Given the description of an element on the screen output the (x, y) to click on. 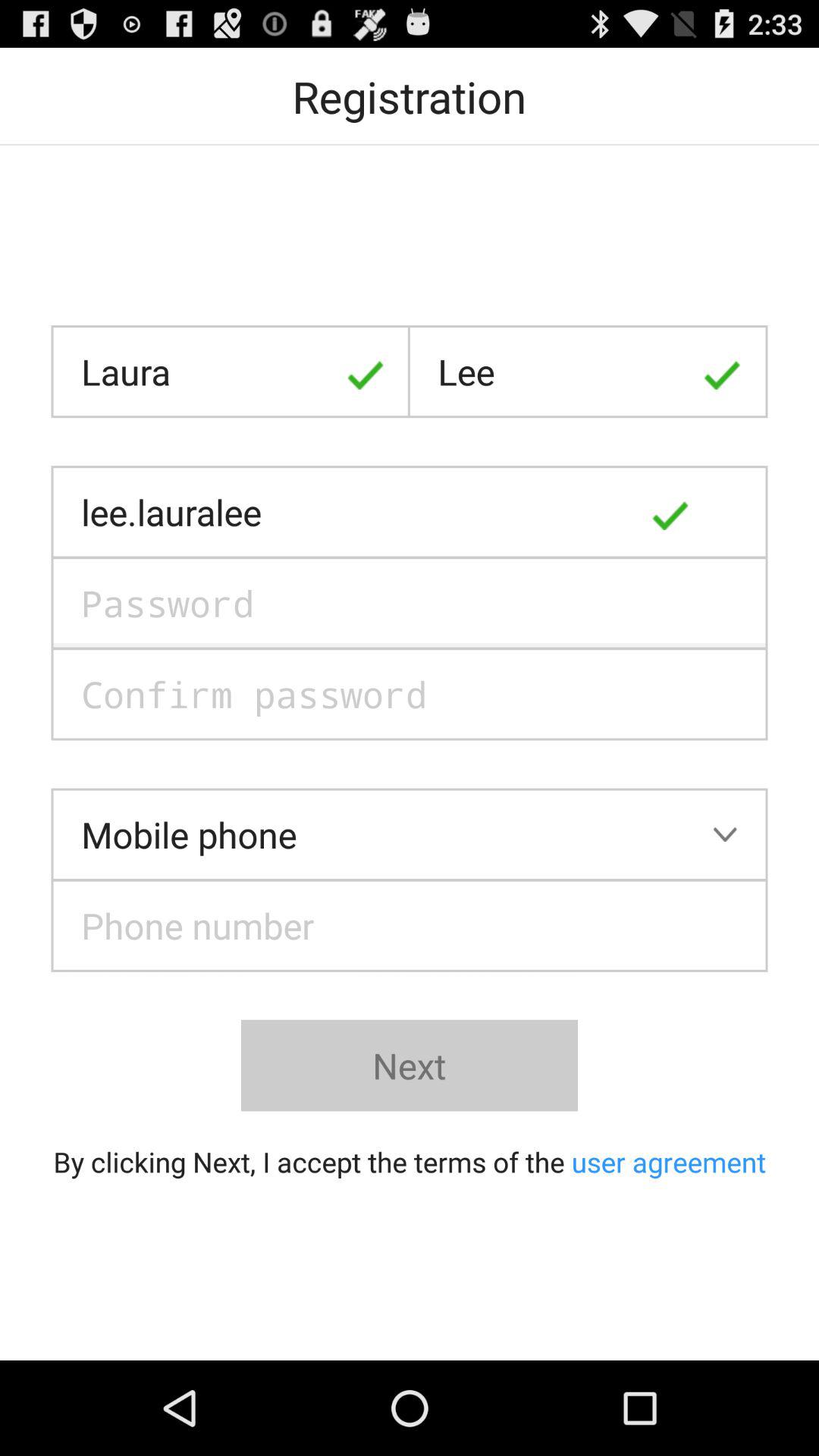
enter password (409, 602)
